Given the description of an element on the screen output the (x, y) to click on. 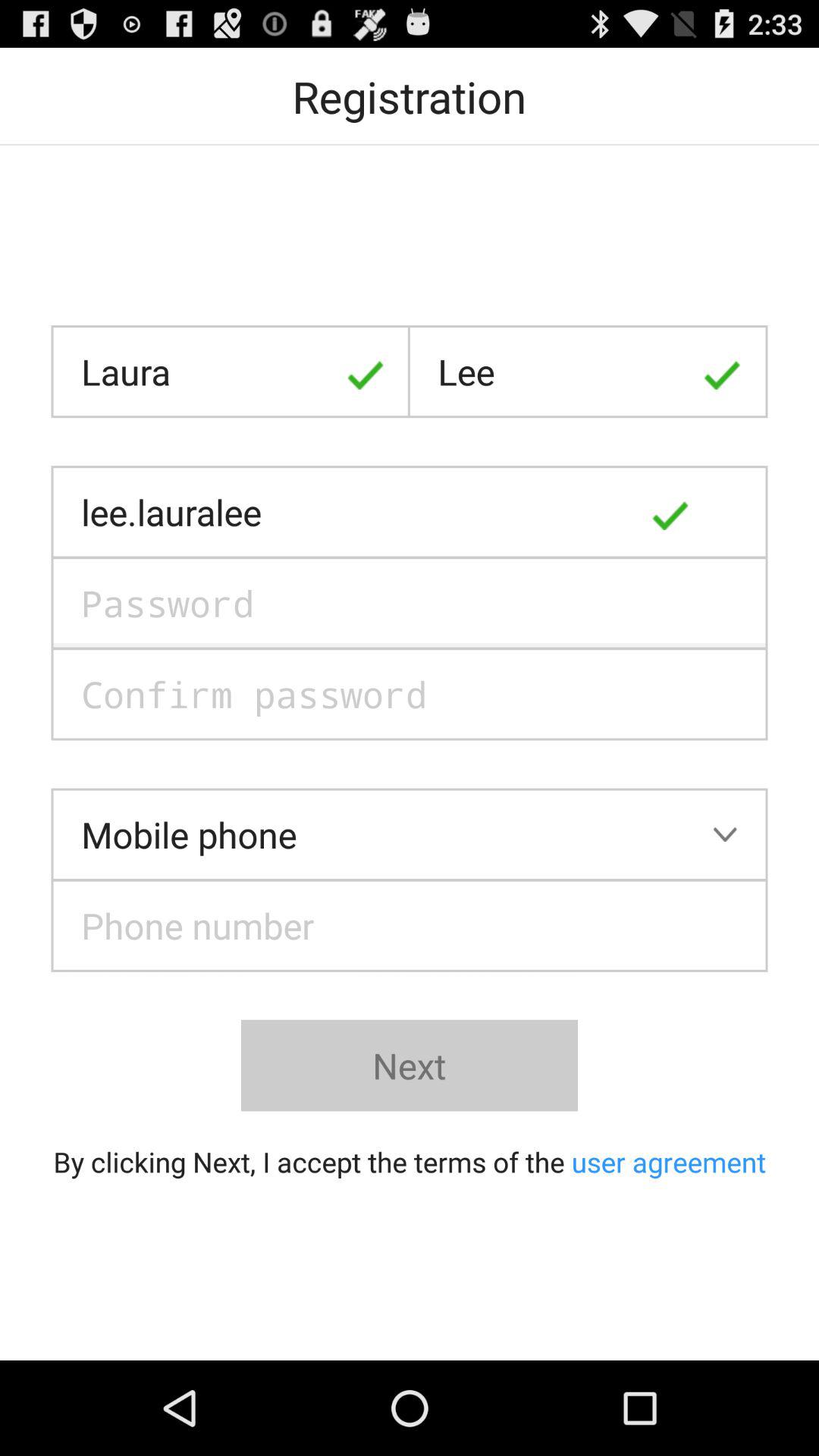
enter password (409, 602)
